Given the description of an element on the screen output the (x, y) to click on. 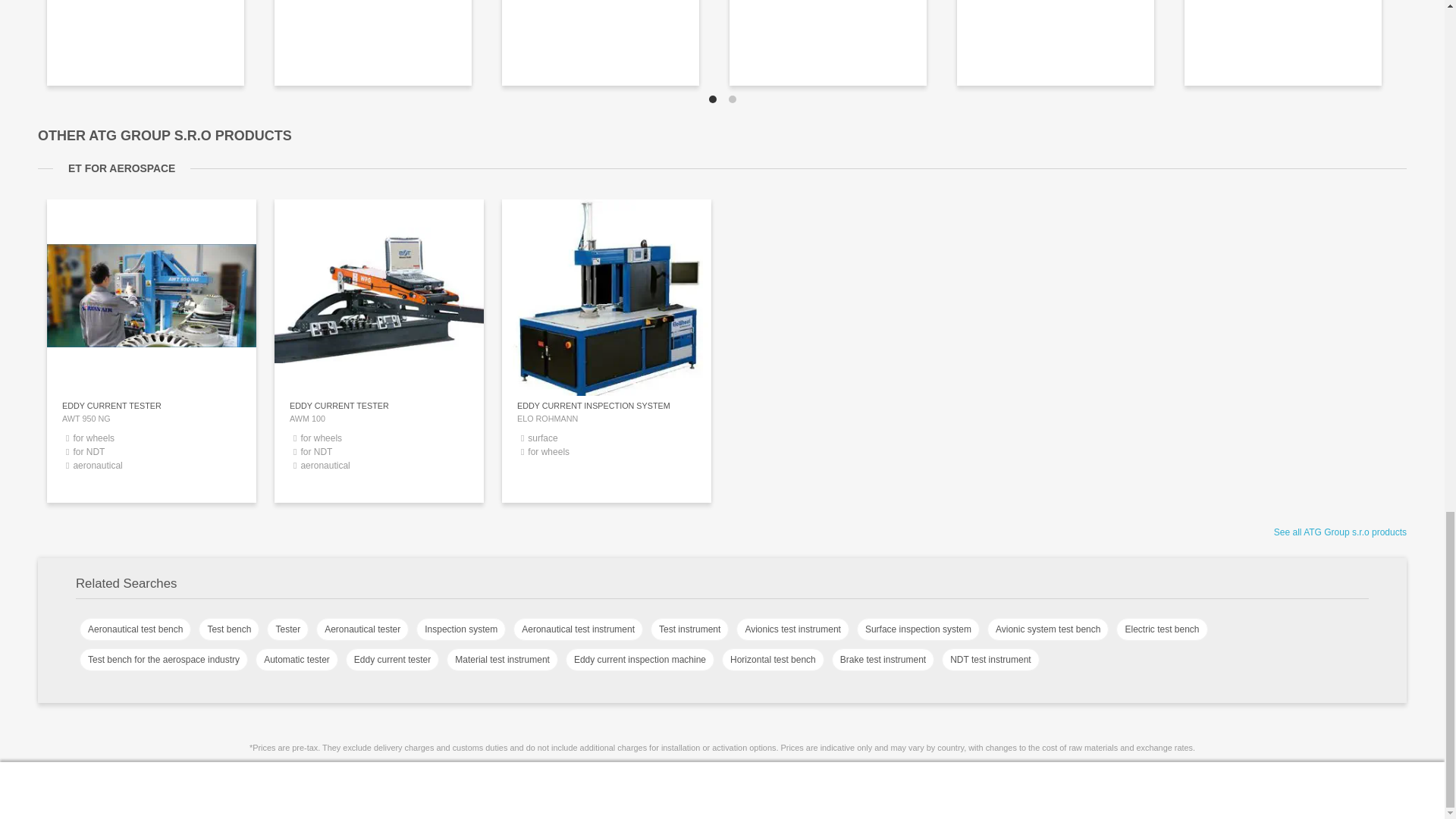
Aeronautical test instrument (578, 629)
Material test instrument (501, 659)
Inspection system (460, 629)
Test bench for the aerospace industry (163, 659)
See all ATG Group s.r.o products (1340, 532)
Electric test bench (1161, 629)
Eddy current tester (392, 659)
Automatic tester (296, 659)
Test instrument (689, 629)
Avionics test instrument (792, 629)
Test bench (228, 629)
Aeronautical tester (362, 629)
Tester (287, 629)
